Given the description of an element on the screen output the (x, y) to click on. 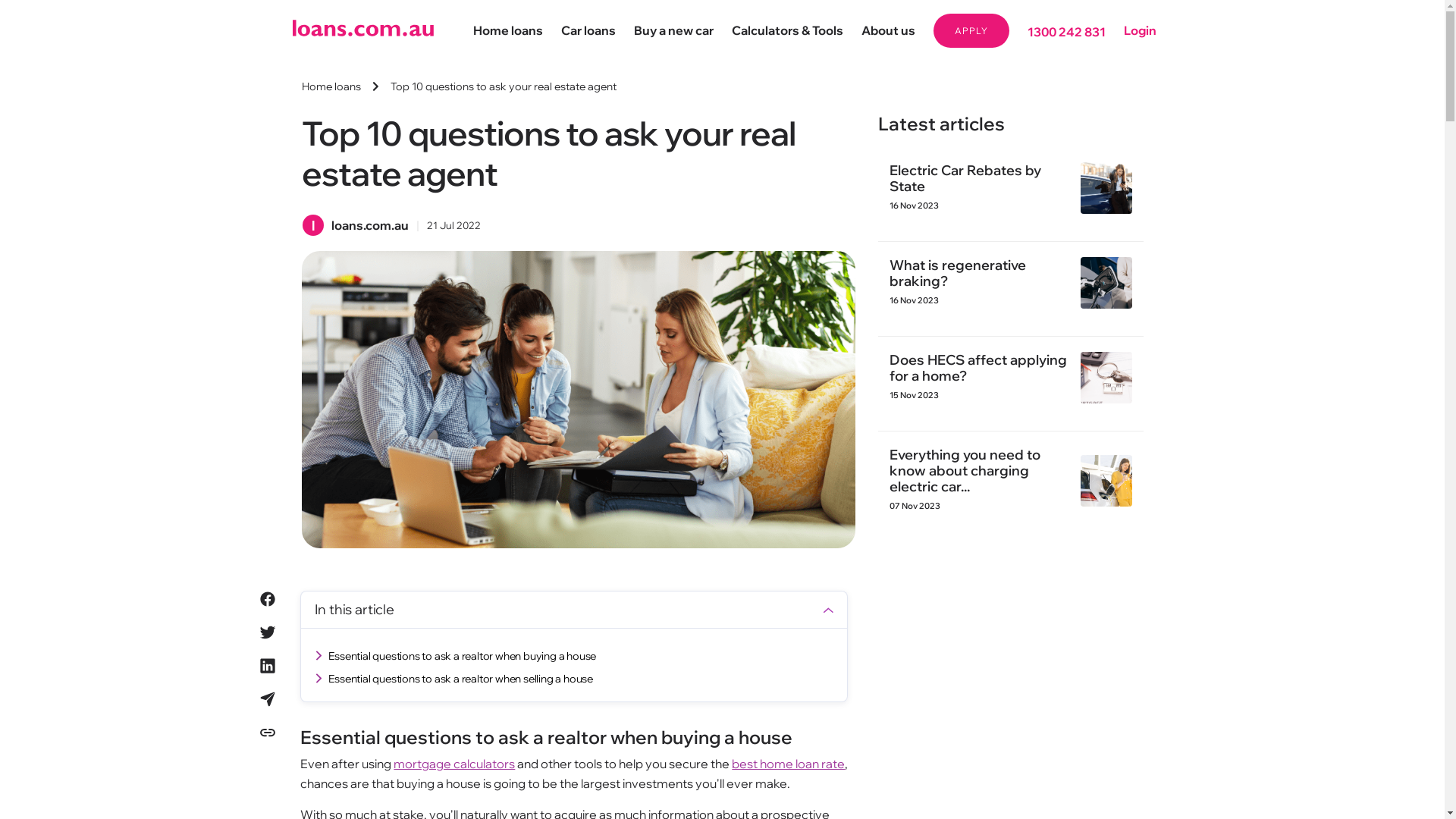
In this article Element type: text (574, 609)
Share via Email Element type: hover (267, 701)
What is regenerative braking?
16 Nov 2023 Element type: text (1010, 282)
Buy a new car Element type: text (673, 30)
Login Element type: text (1139, 29)
1300 242 831 Element type: text (1066, 32)
APPLY Element type: text (971, 30)
Electric Car Rebates by State
16 Nov 2023 Element type: text (1010, 188)
Home loans Element type: text (330, 86)
mortgage calculators Element type: text (453, 763)
Home loans Element type: text (508, 30)
Car loans Element type: text (588, 30)
Share on Facebook Element type: hover (267, 601)
Calculators & Tools Element type: text (787, 30)
best home loan rate Element type: text (787, 763)
About us Element type: text (888, 30)
Does HECS affect applying for a home?
15 Nov 2023 Element type: text (1010, 377)
Share on LinkedIn Element type: hover (267, 667)
Essential questions to ask a realtor when buying a house Element type: text (458, 655)
Essential questions to ask a realtor when selling a house Element type: text (456, 678)
Share on Twitter Element type: hover (267, 634)
Copy Link Element type: hover (267, 734)
